Given the description of an element on the screen output the (x, y) to click on. 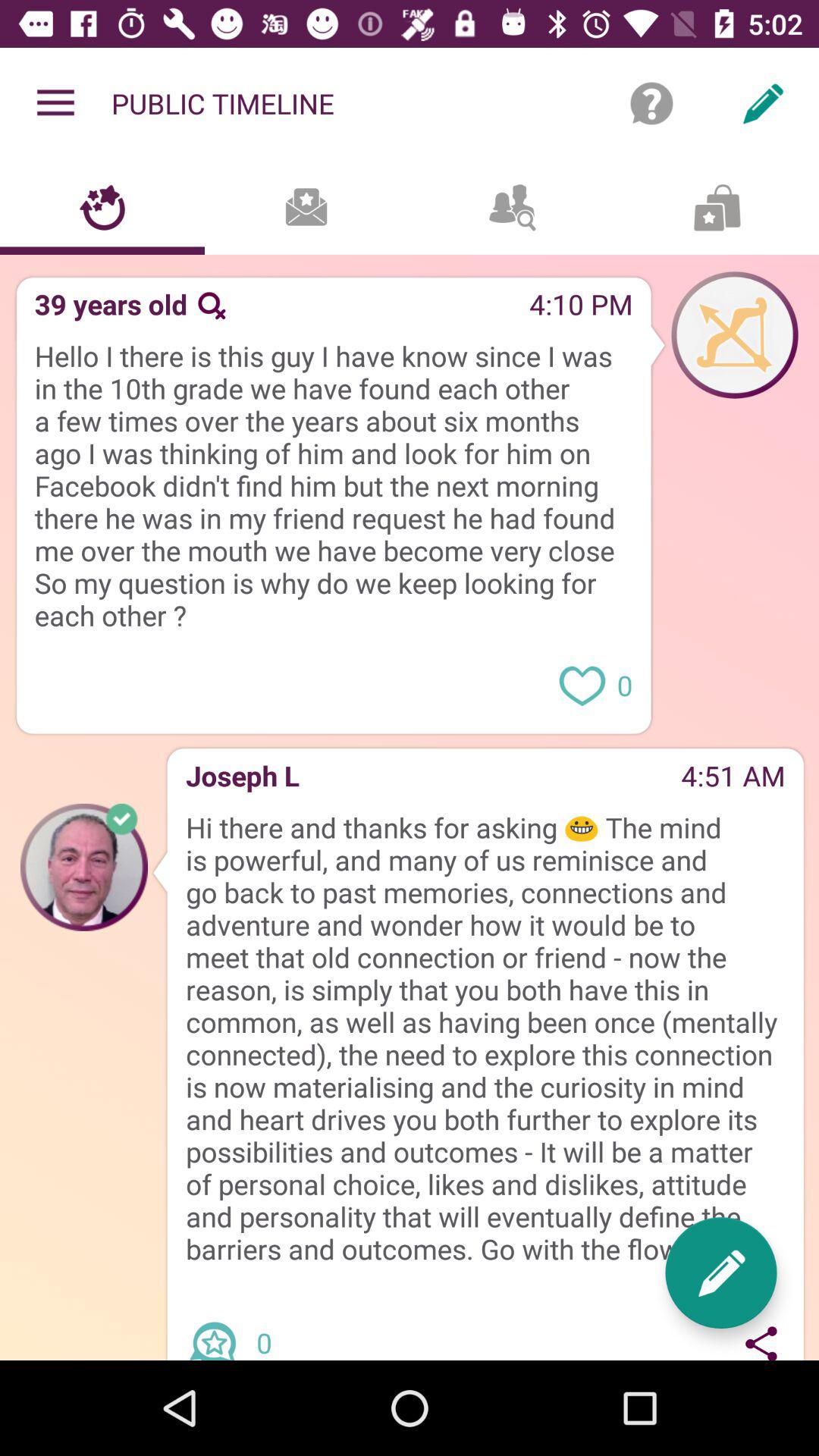
view profile (83, 867)
